Given the description of an element on the screen output the (x, y) to click on. 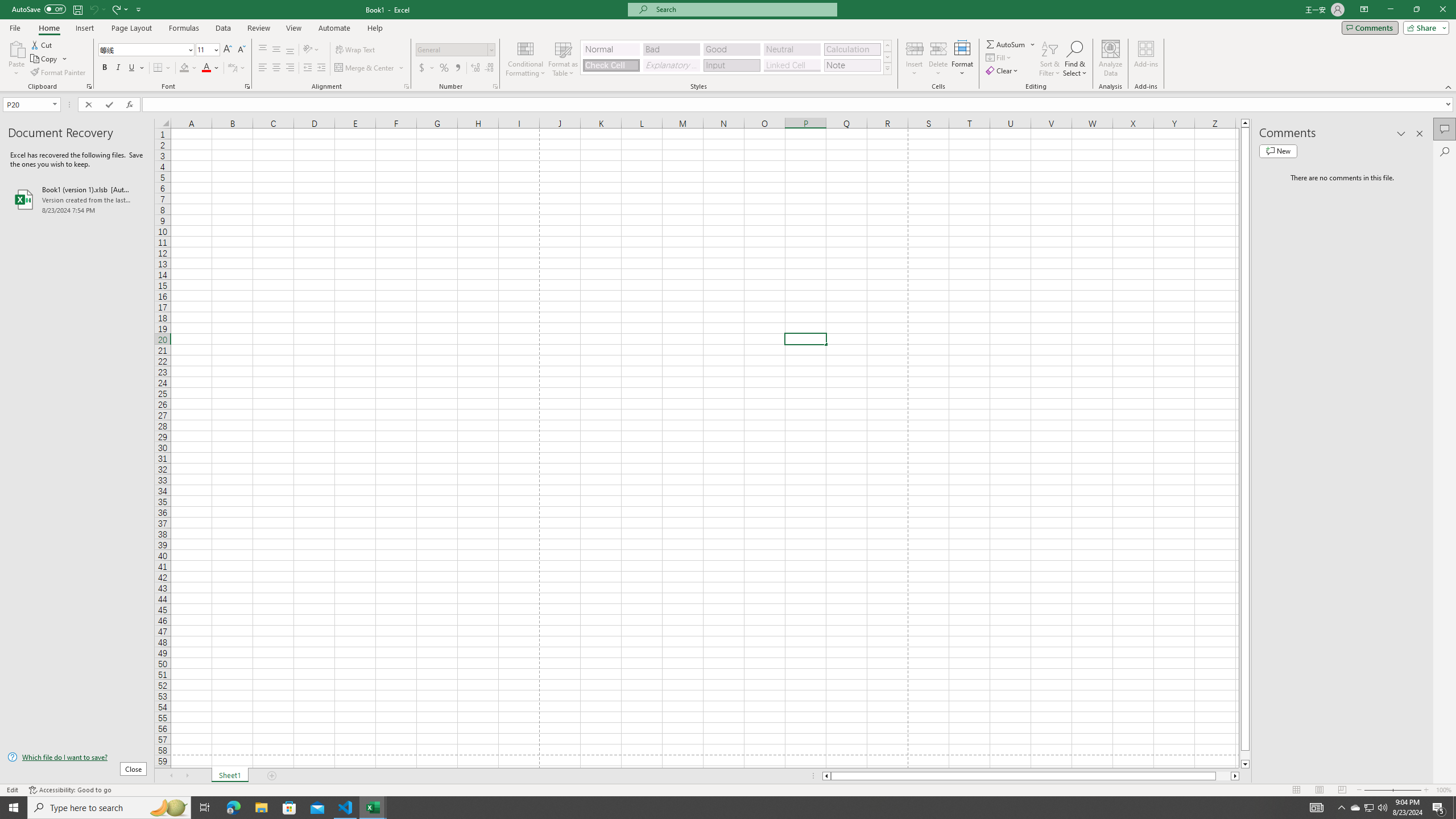
Align Left (262, 67)
Restore Down (1416, 9)
Open (54, 104)
Format Cell Number (494, 85)
Center (276, 67)
Minimize (1390, 9)
Share (1423, 27)
Accounting Number Format (426, 67)
Sum (1006, 44)
Accounting Number Format (422, 67)
Underline (131, 67)
Font Size (207, 49)
Data (223, 28)
